Given the description of an element on the screen output the (x, y) to click on. 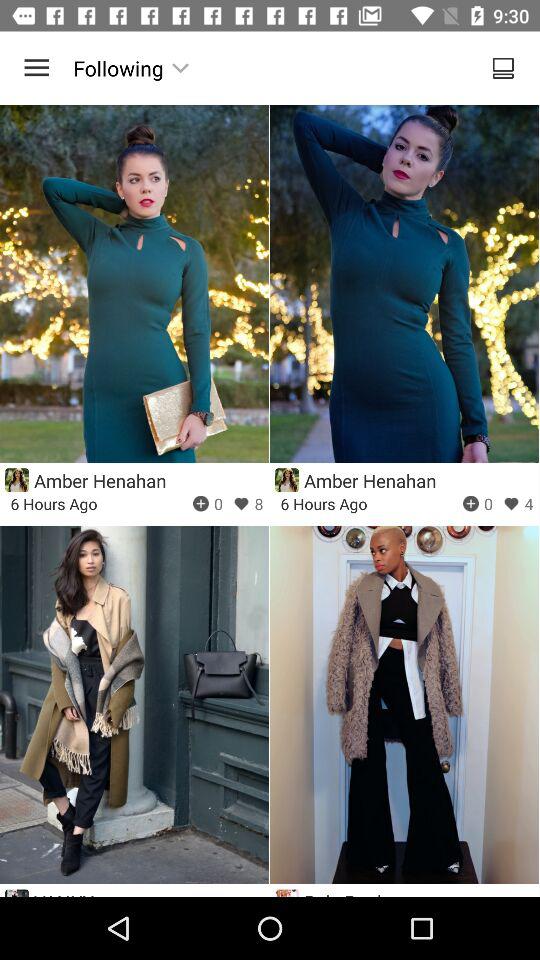
icon represented the user profile (16, 479)
